Given the description of an element on the screen output the (x, y) to click on. 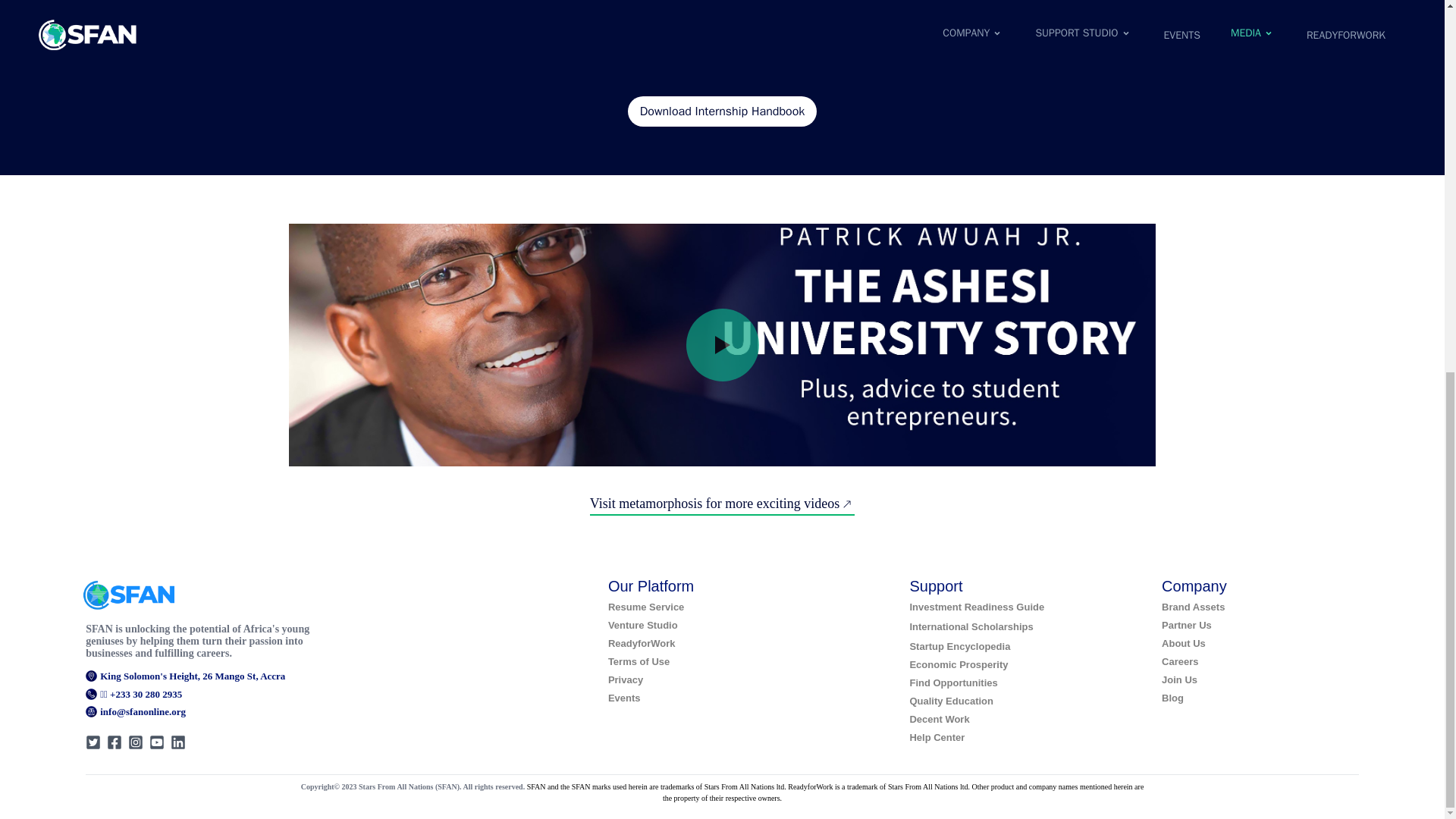
Terms of Use (638, 661)
Startup Encyclopedia (959, 645)
Privacy (625, 679)
Help Center (935, 737)
Quality Education (950, 700)
Investment Readiness Guide (975, 606)
Venture Studio (643, 624)
Download Internship Handbook (721, 111)
Resume Service (646, 606)
Events (624, 697)
Find Opportunities (952, 682)
Economic Prosperity (957, 664)
International Scholarships (970, 626)
Decent Work (938, 718)
Visit metamorphosis for more exciting videos (721, 503)
